Given the description of an element on the screen output the (x, y) to click on. 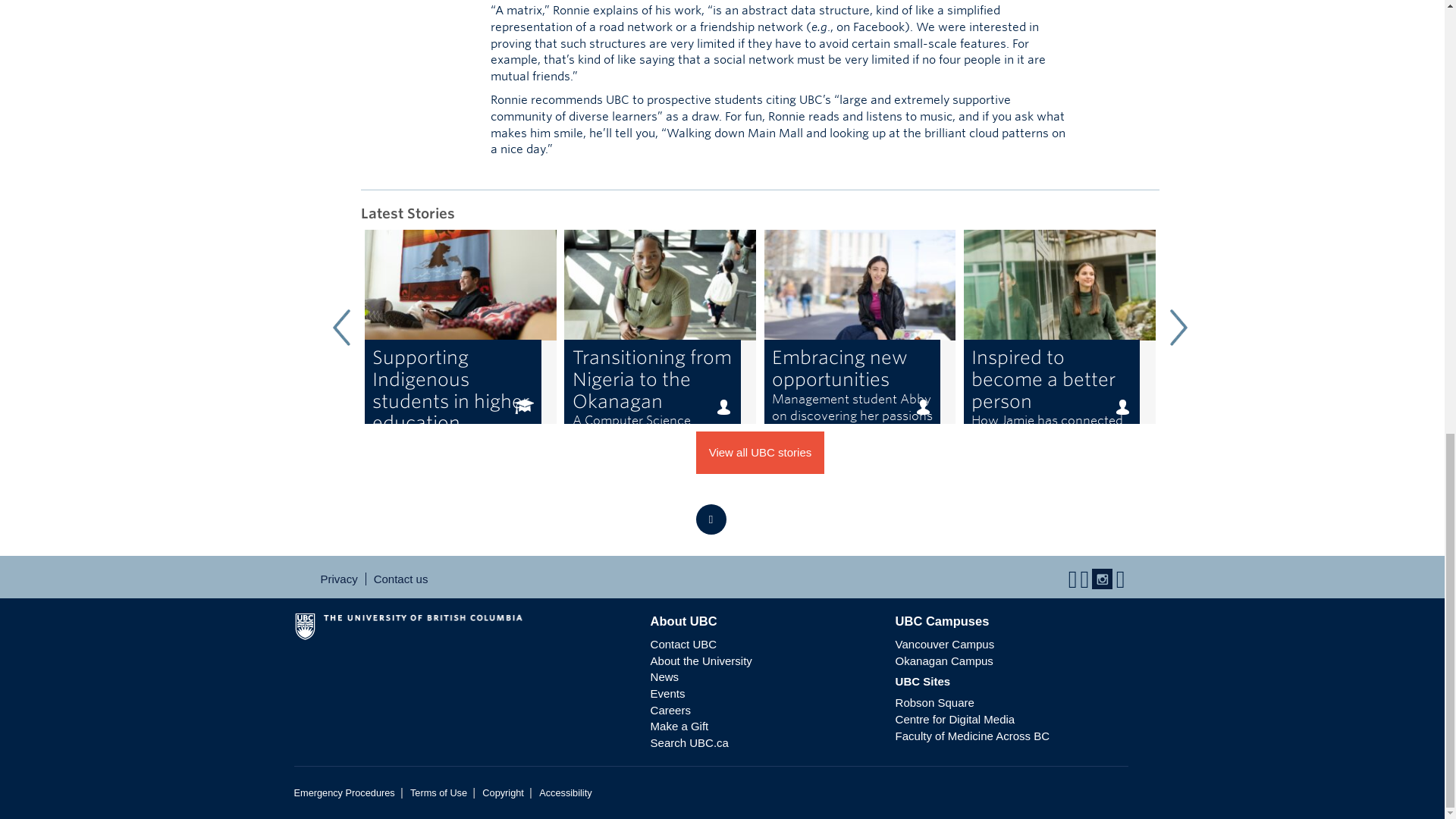
UBC Copyright (502, 792)
Emergency Procedures (344, 792)
Terms of Use (438, 792)
Back to top (460, 327)
Accessibility (710, 519)
Instagram icon (564, 792)
